Given the description of an element on the screen output the (x, y) to click on. 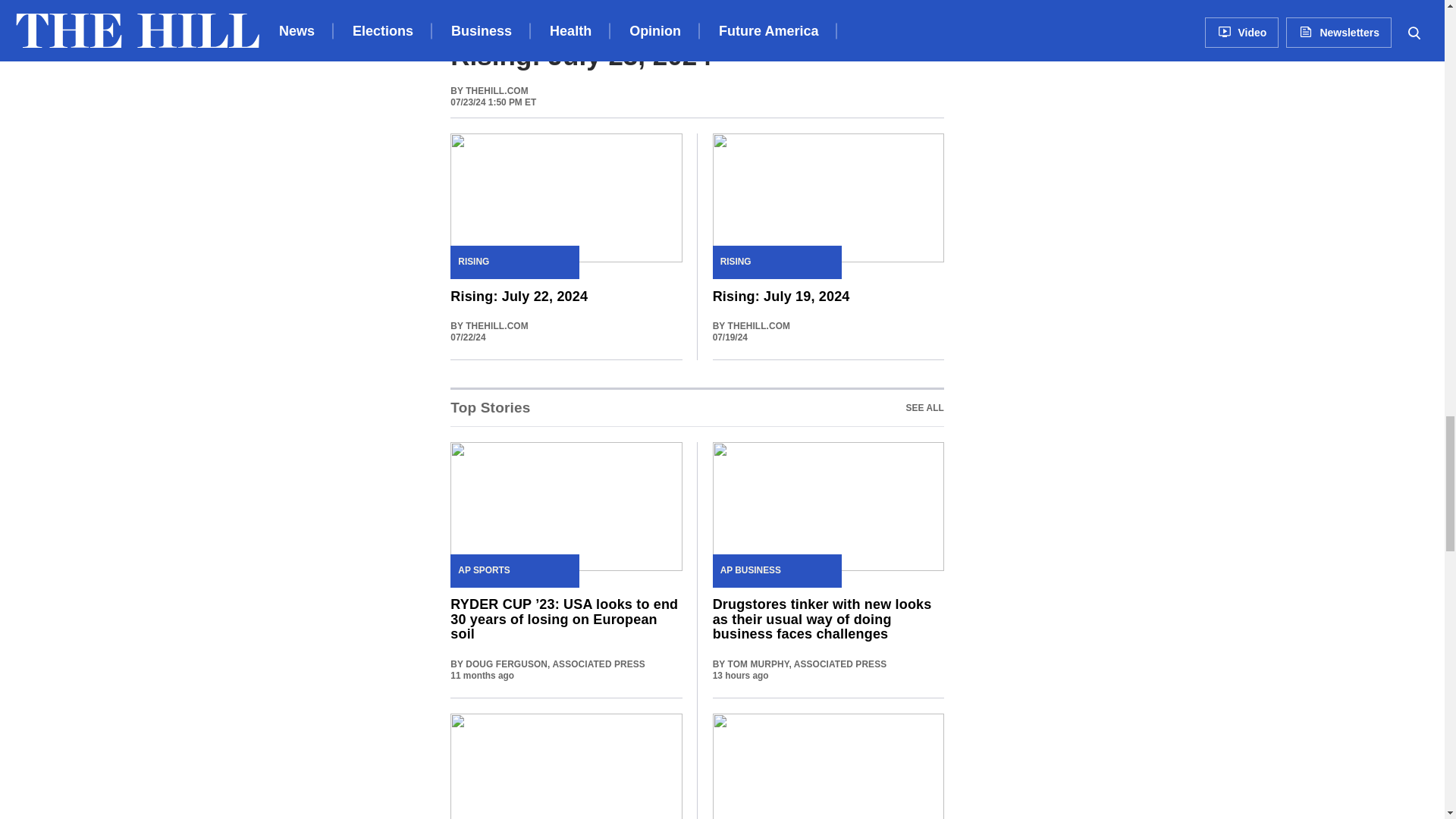
SEE ALL (696, 406)
Top Stories (924, 407)
SEE ALL (489, 407)
